Given the description of an element on the screen output the (x, y) to click on. 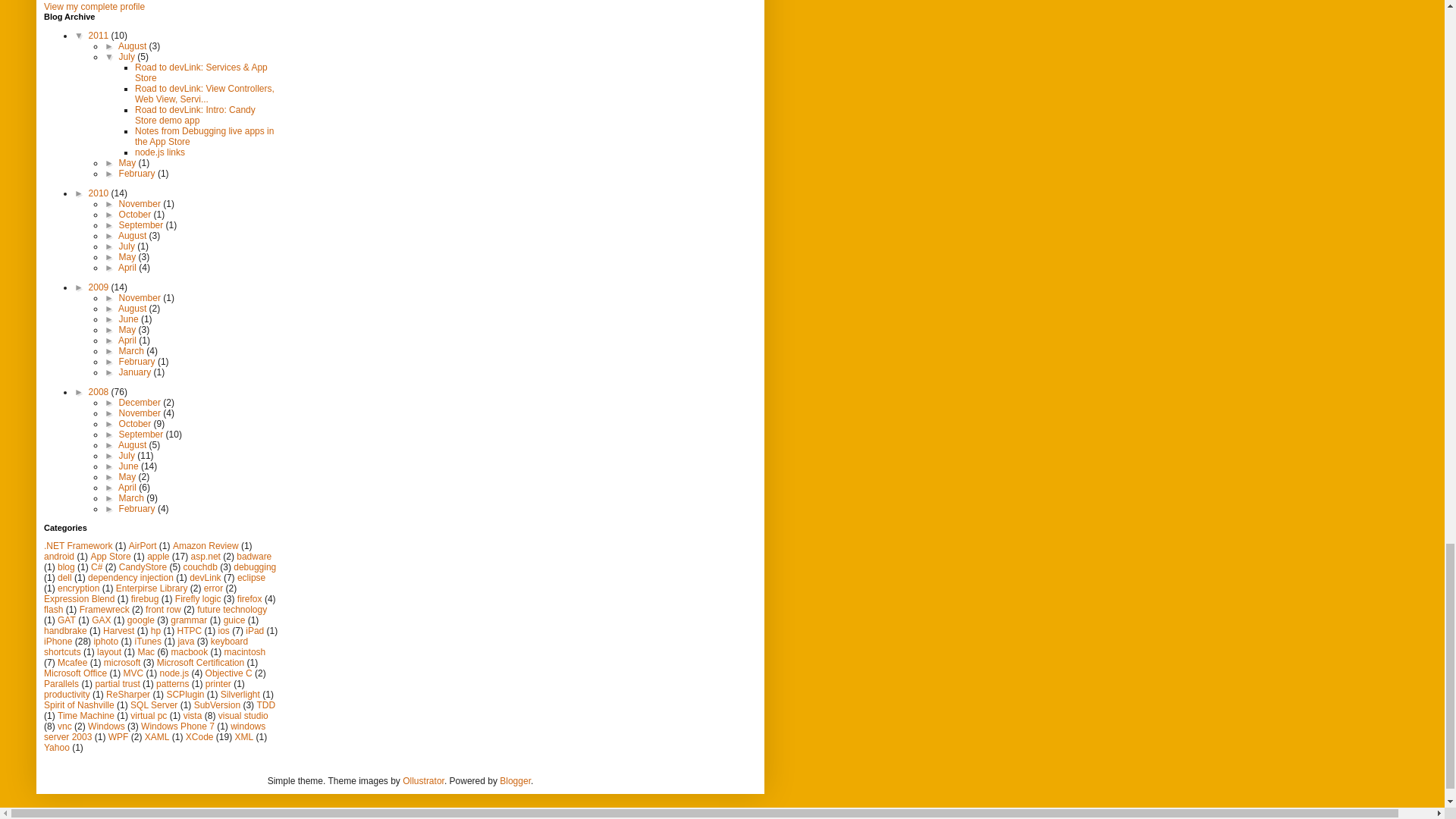
View my complete profile (93, 6)
